Given the description of an element on the screen output the (x, y) to click on. 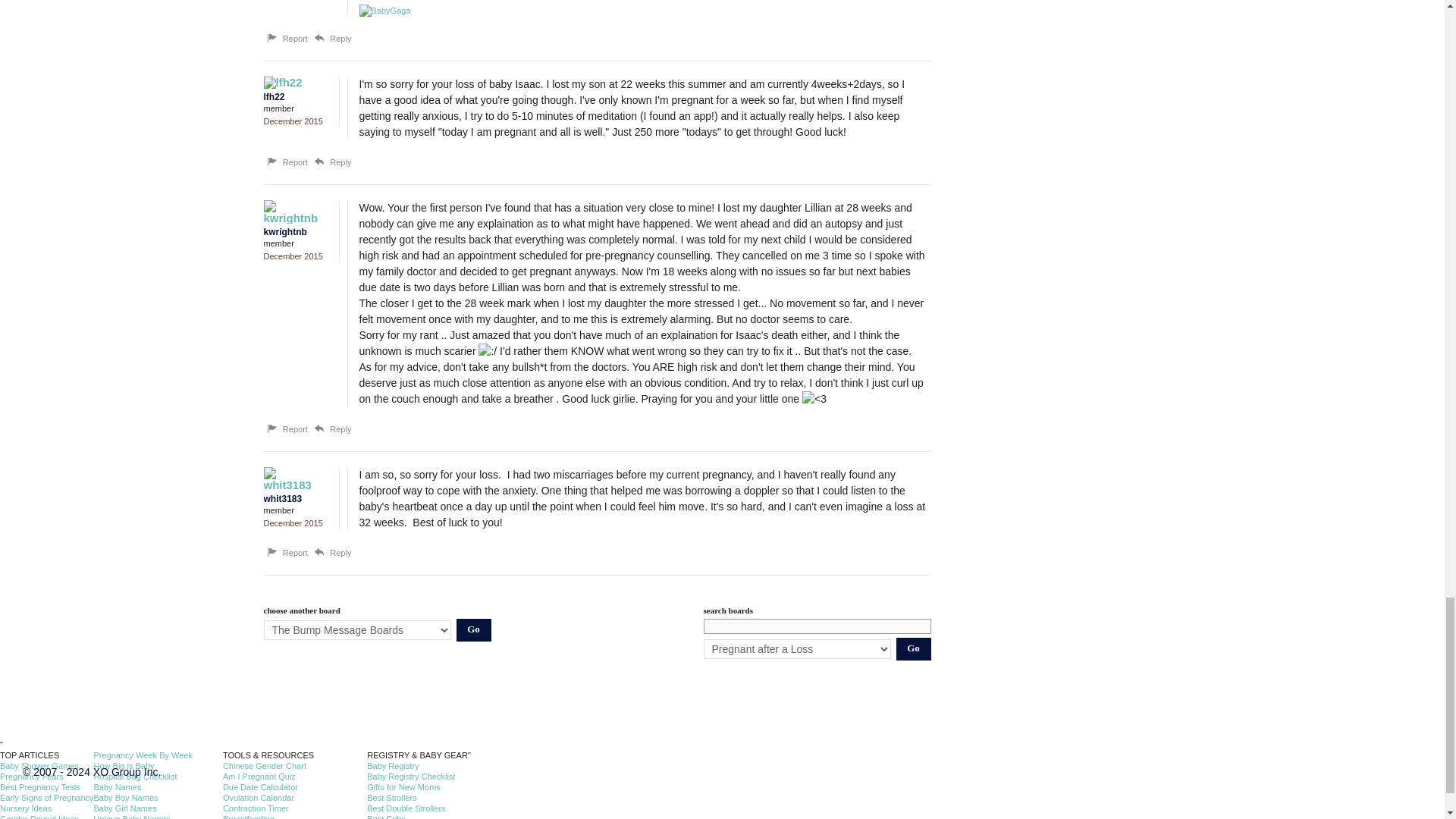
Go (913, 649)
Go (474, 630)
